Given the description of an element on the screen output the (x, y) to click on. 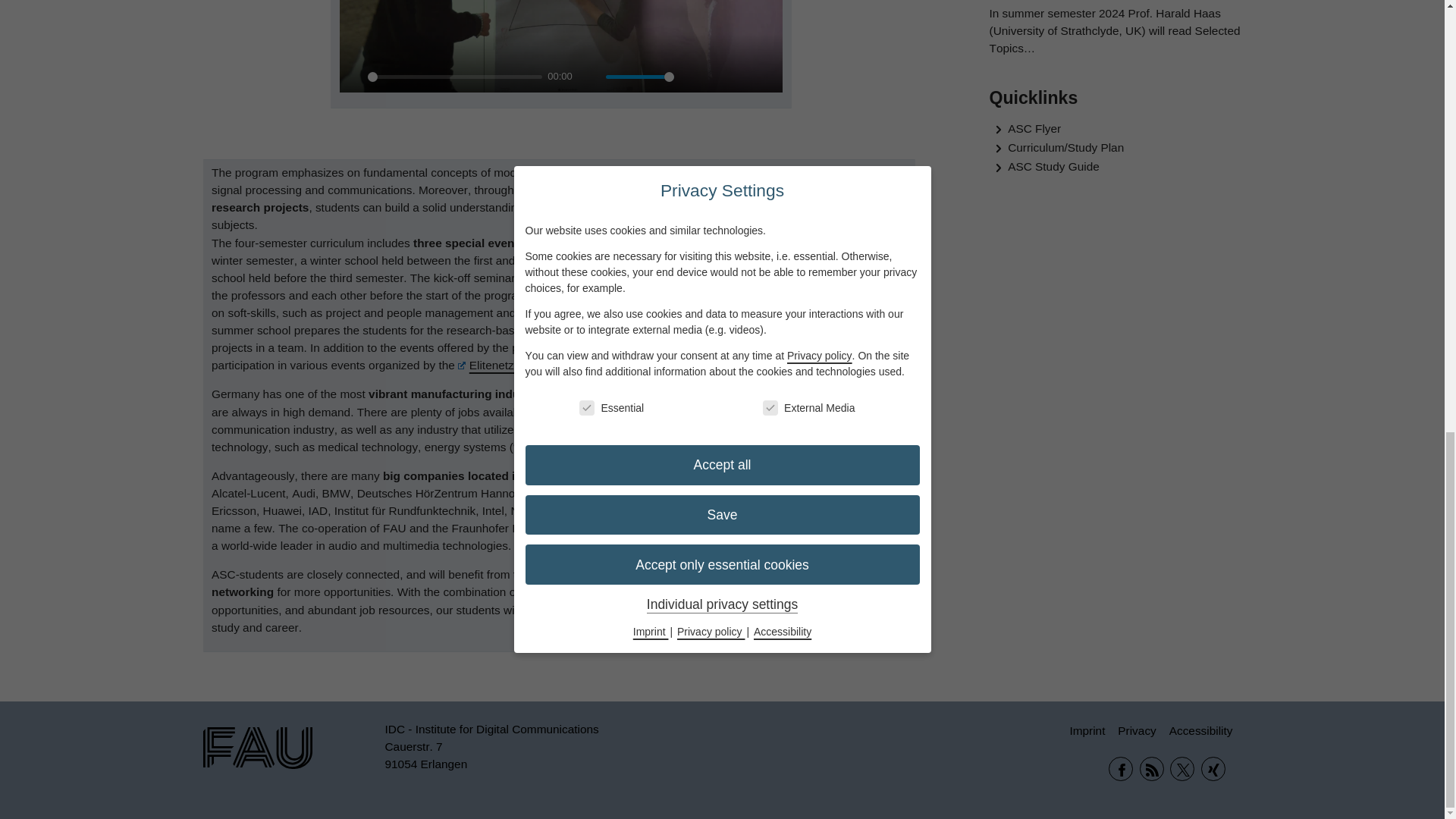
ASC Flyer (879, 531)
0 (454, 76)
ASC Flyer compact version (835, 502)
1 (639, 76)
